Given the description of an element on the screen output the (x, y) to click on. 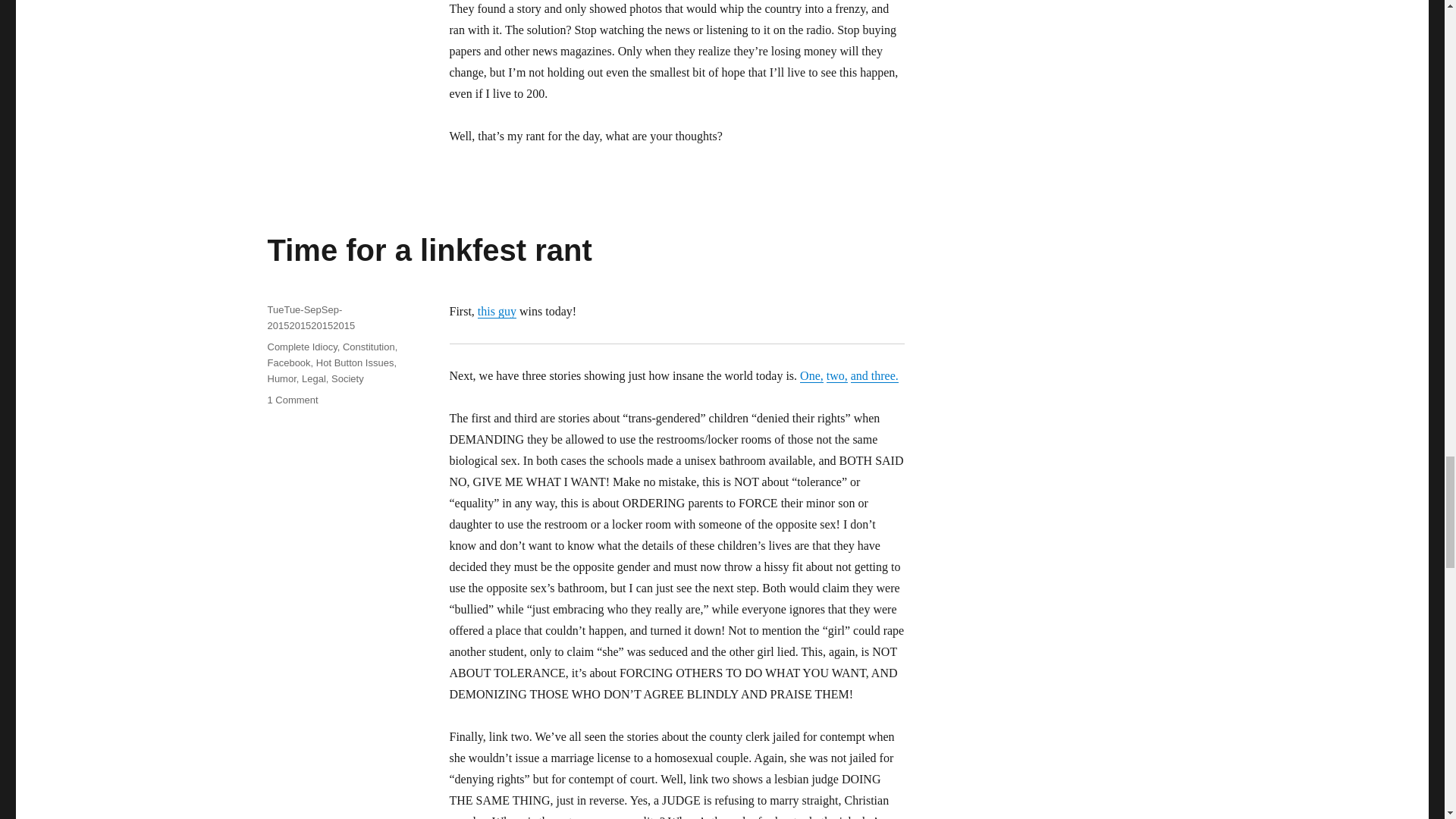
Hot Button Issues (354, 362)
and three. (874, 375)
TueTue-SepSep-2015201520152015 (310, 317)
One, (811, 375)
Legal (313, 378)
Facebook (288, 362)
two, (837, 375)
Time for a linkfest rant (428, 249)
Constitution (368, 346)
Humor (280, 378)
